Given the description of an element on the screen output the (x, y) to click on. 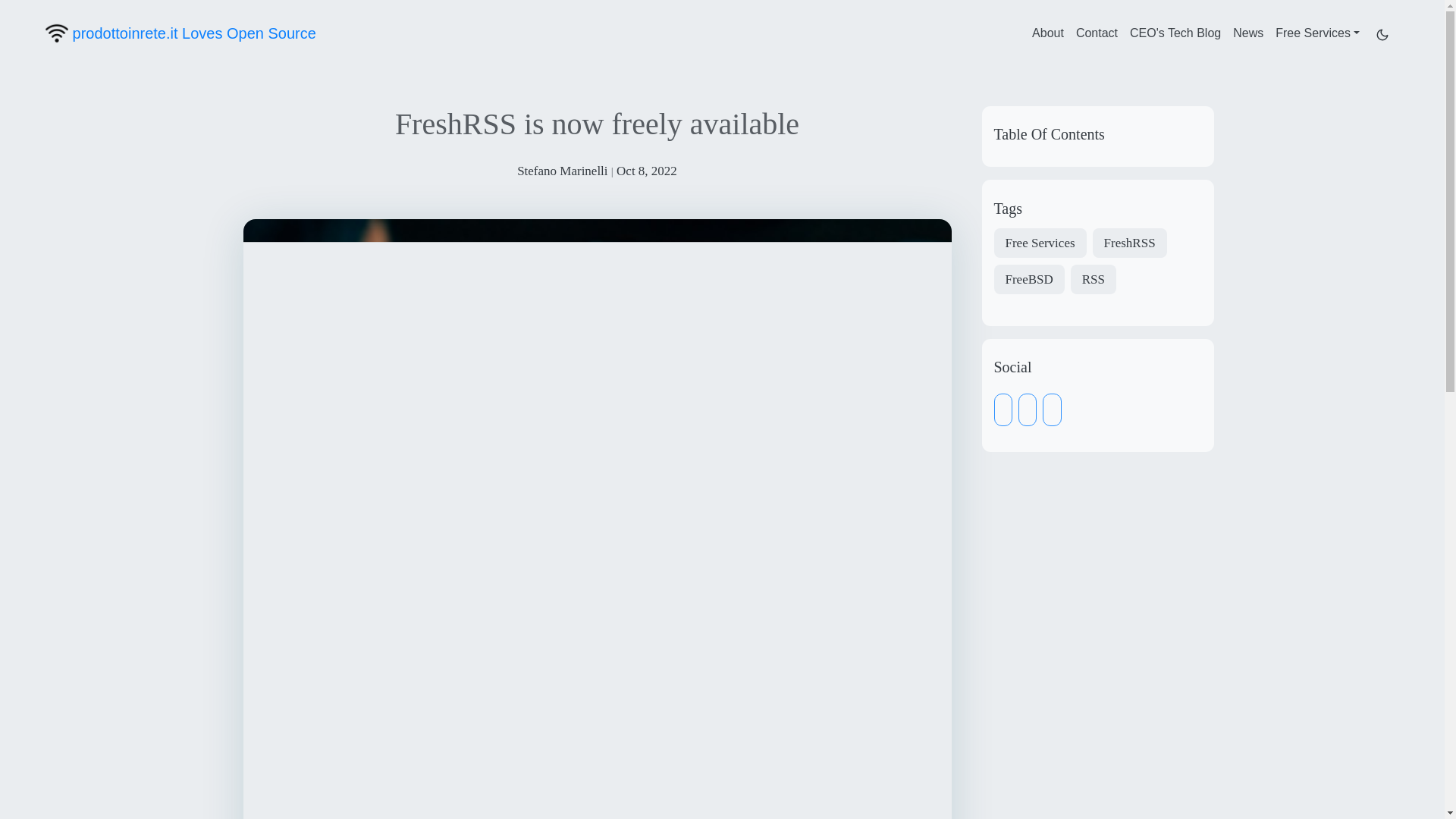
Free Services (1317, 33)
RSS (1093, 279)
Free Services (1317, 33)
FreeBSD (1028, 279)
prodottoinrete.it Loves Open Source (180, 33)
Our CEO's blog posts (1175, 33)
News from Prodottoinrete (1248, 33)
Free Services (1039, 242)
Contact (1097, 33)
CEO's Tech Blog (1175, 33)
News (1248, 33)
FreshRSS (1130, 242)
About (1048, 33)
